Given the description of an element on the screen output the (x, y) to click on. 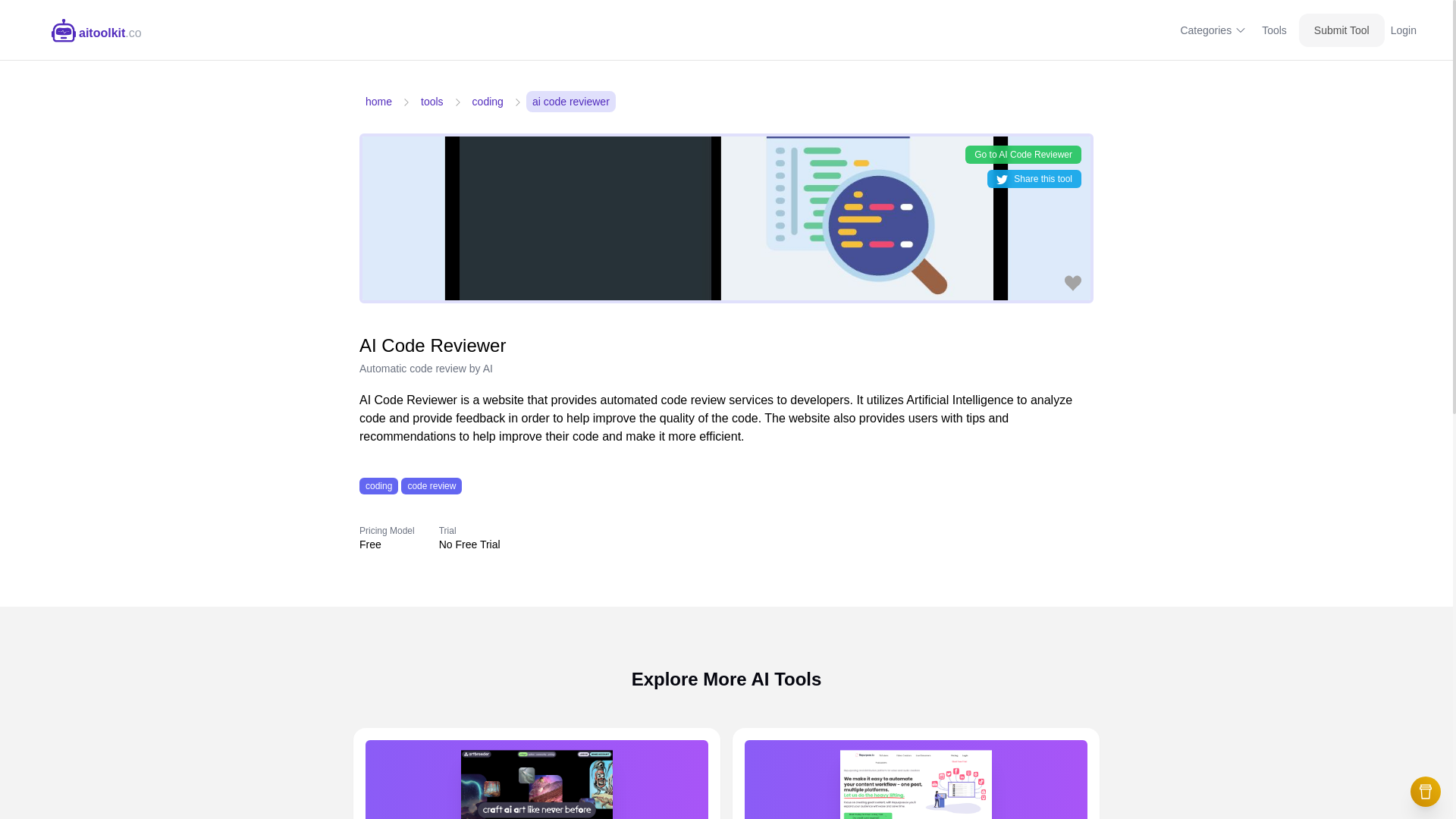
Login (1403, 29)
coding (378, 484)
Categories (1212, 29)
tools (431, 101)
Tools (1273, 30)
Buy Me a Coffee (1425, 791)
code review (431, 484)
home (378, 101)
aitoolkit.co (96, 30)
coding (487, 101)
ai code reviewer (570, 101)
Submit Tool (1341, 29)
